Given the description of an element on the screen output the (x, y) to click on. 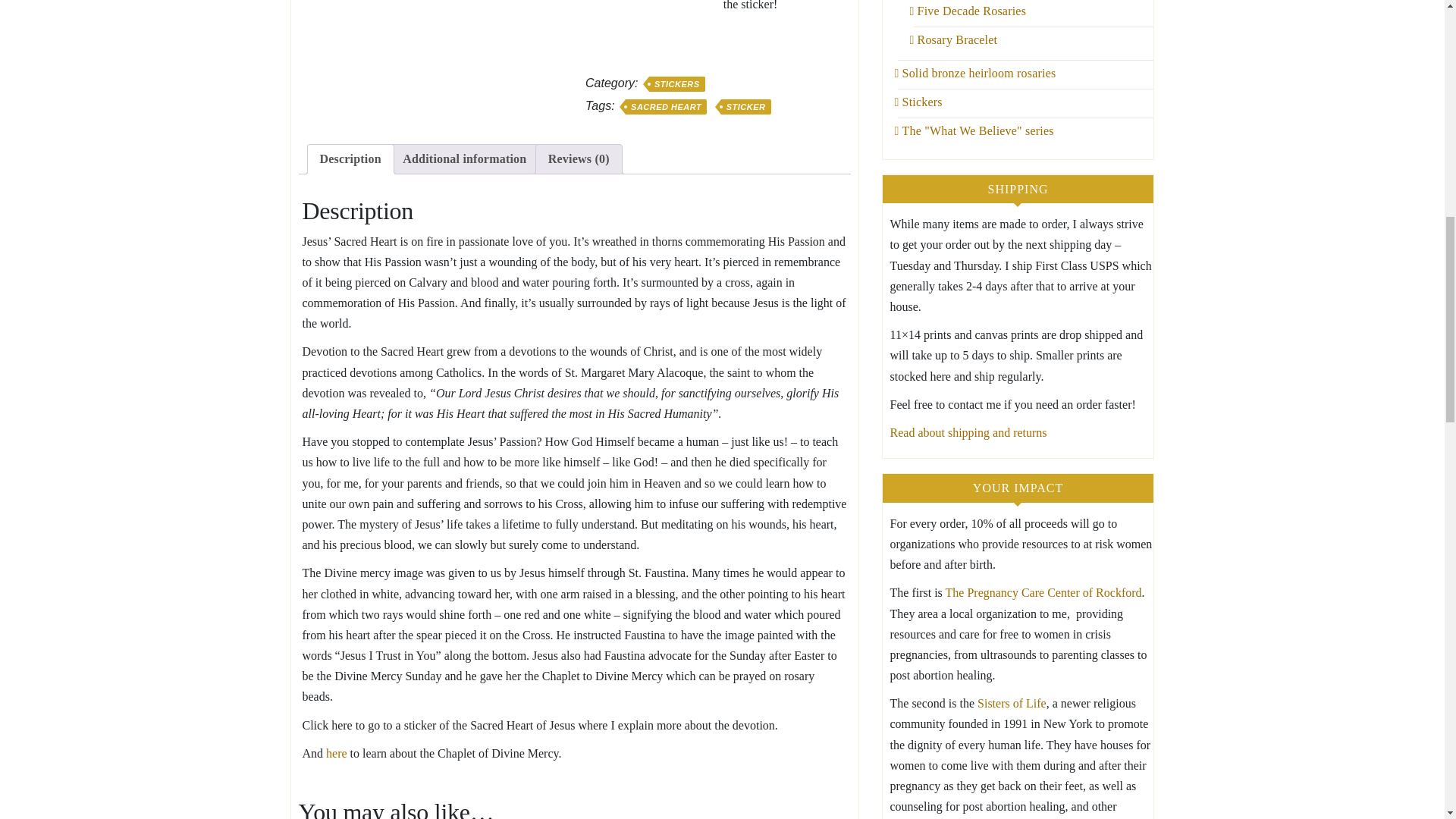
Additional information (464, 158)
Description (350, 158)
SACRED HEART (666, 106)
STICKERS (676, 83)
STICKER (745, 106)
